Given the description of an element on the screen output the (x, y) to click on. 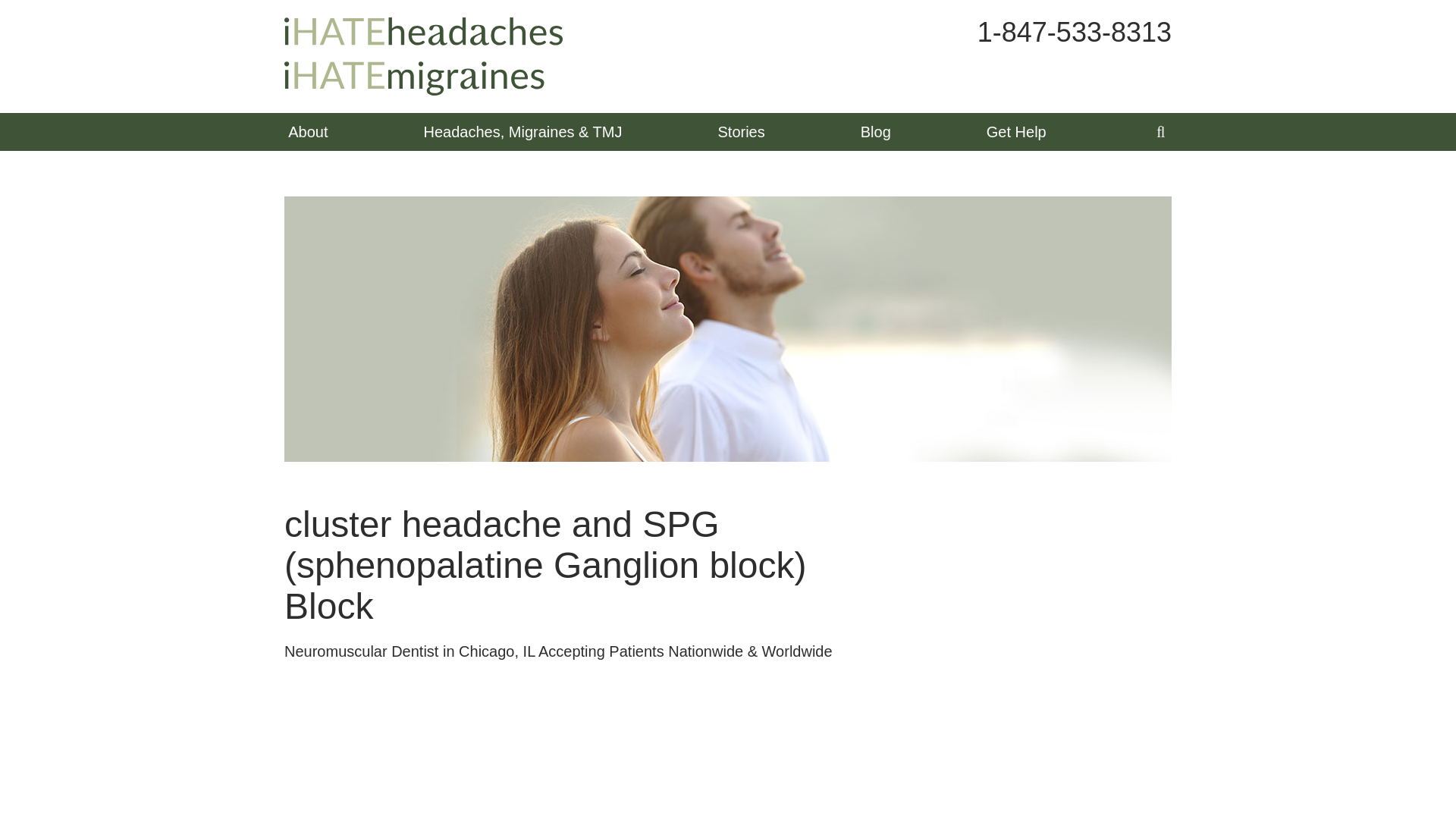
1-847-533-8313 (1074, 31)
Home (422, 56)
About (307, 131)
